Given the description of an element on the screen output the (x, y) to click on. 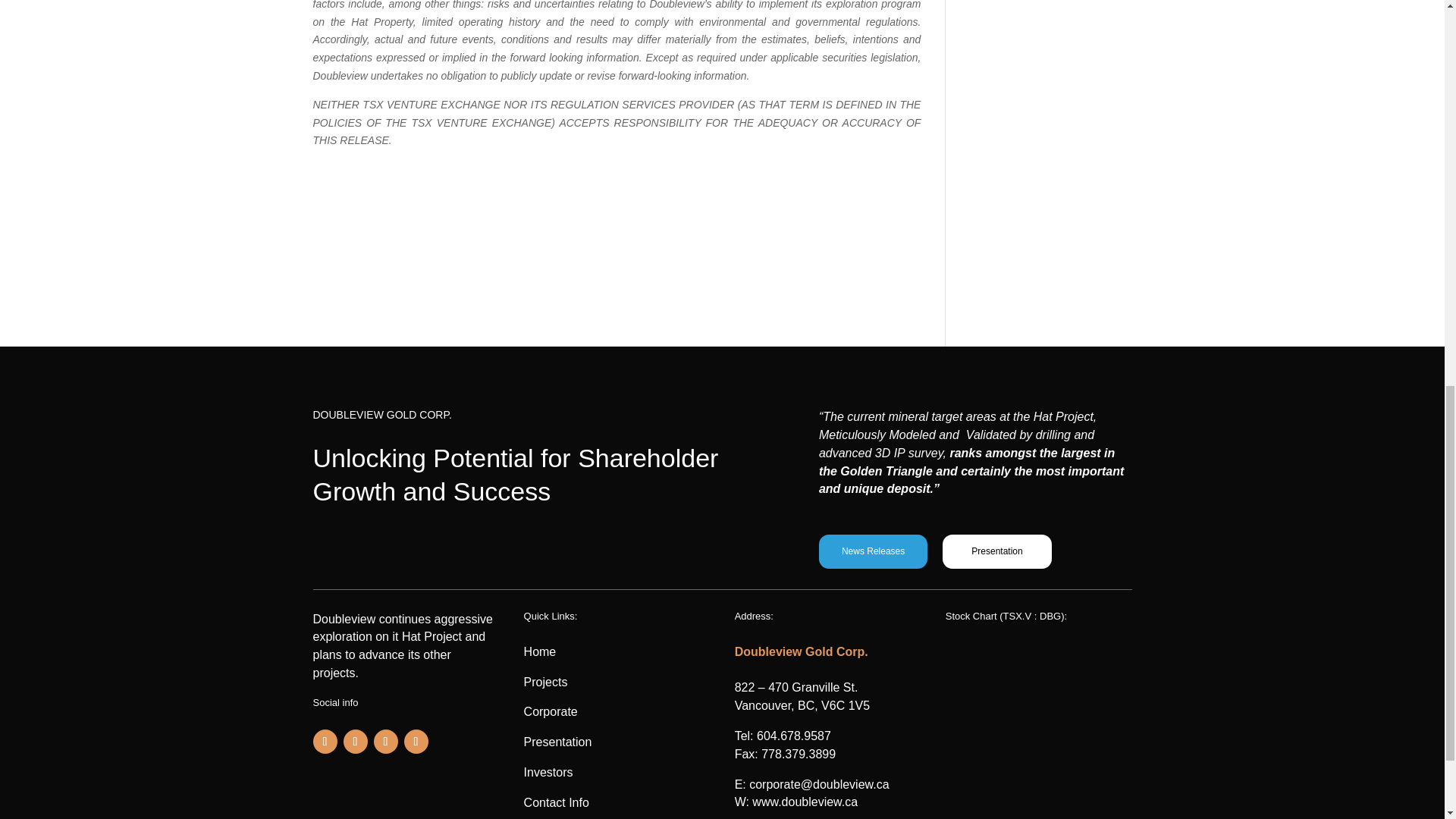
Follow on LinkedIn (415, 741)
Follow on X (354, 741)
Follow on Facebook (324, 741)
Follow on Youtube (384, 741)
